Given the description of an element on the screen output the (x, y) to click on. 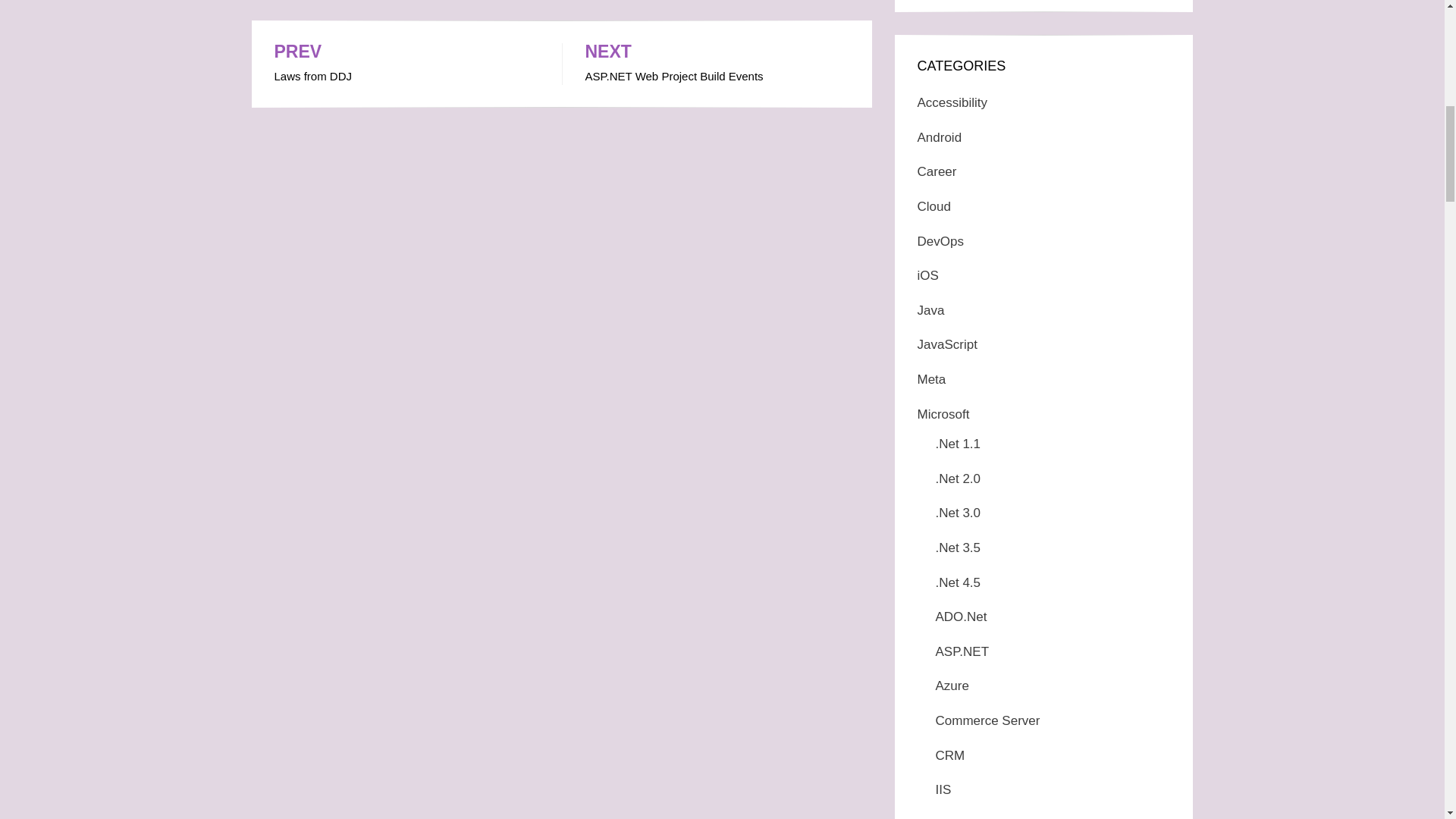
Android (939, 137)
.Net 3.5 (958, 547)
.Net 3.0 (958, 513)
iOS (928, 275)
Meta (406, 64)
JavaScript (931, 379)
Microsoft (946, 344)
.Net 4.5 (943, 414)
Cloud (958, 582)
